Given the description of an element on the screen output the (x, y) to click on. 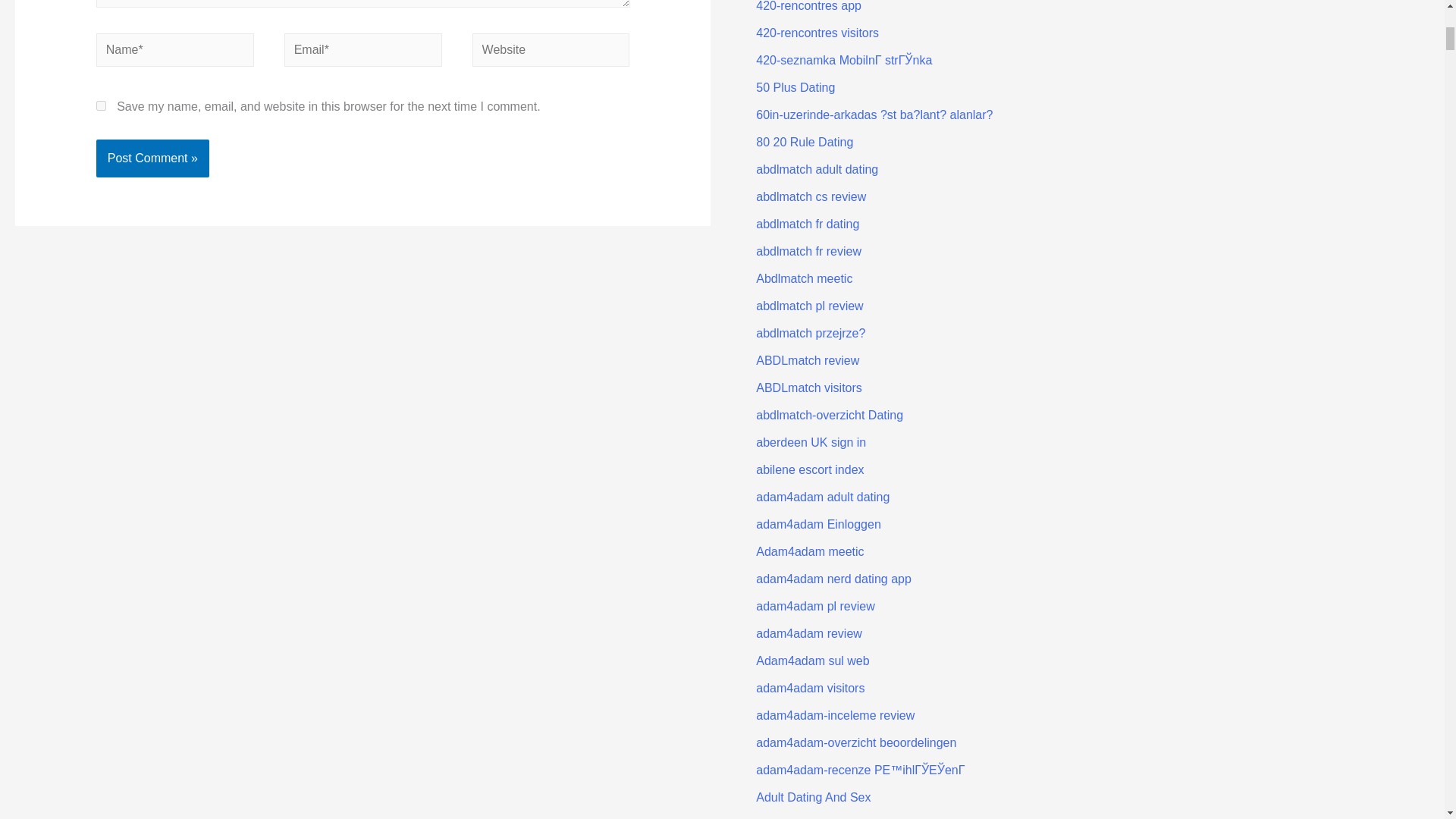
yes (101, 105)
